Given the description of an element on the screen output the (x, y) to click on. 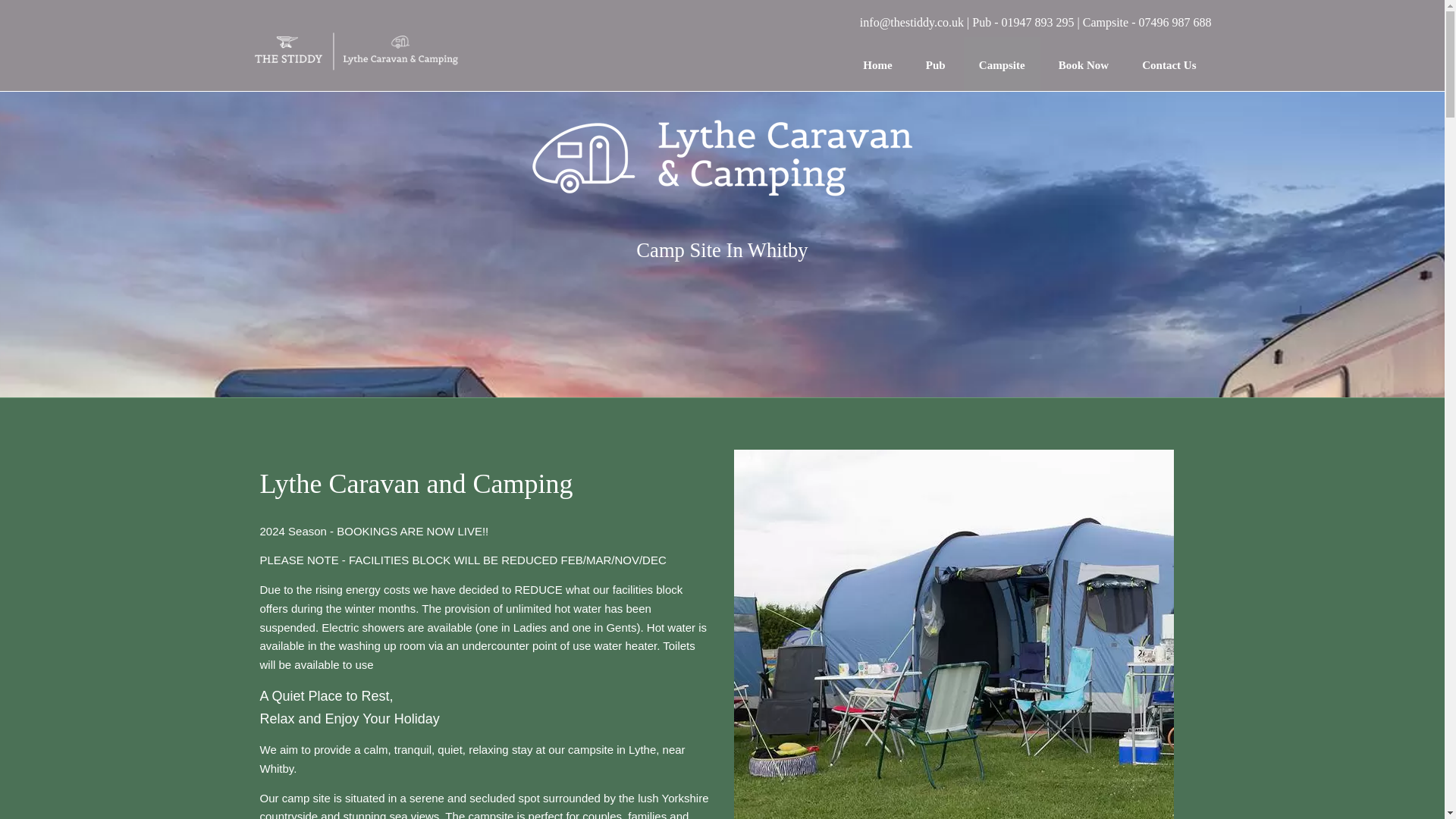
Home (877, 63)
Campsite (1002, 63)
Contact Us (1168, 63)
Pub (935, 63)
Book Now (1083, 63)
